Given the description of an element on the screen output the (x, y) to click on. 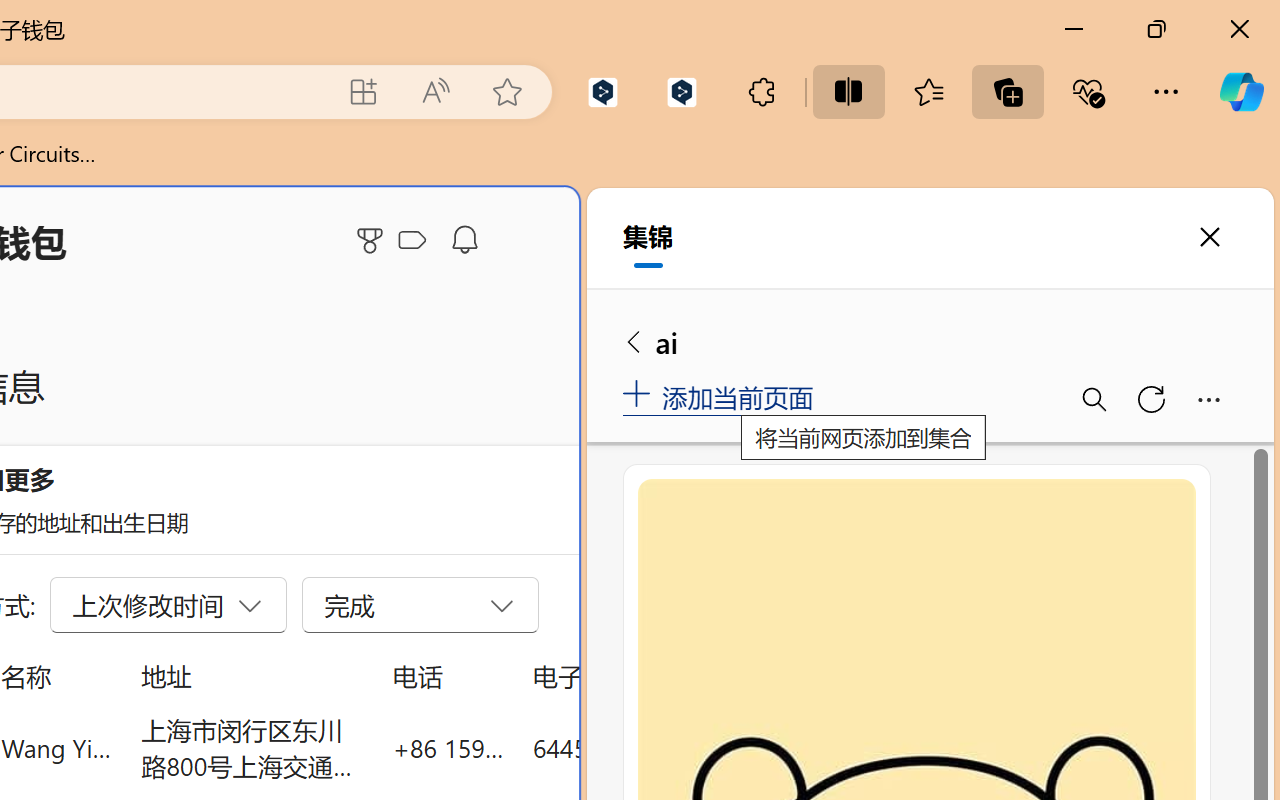
Class: ___1lmltc5 f1agt3bx f12qytpq (411, 241)
